Given the description of an element on the screen output the (x, y) to click on. 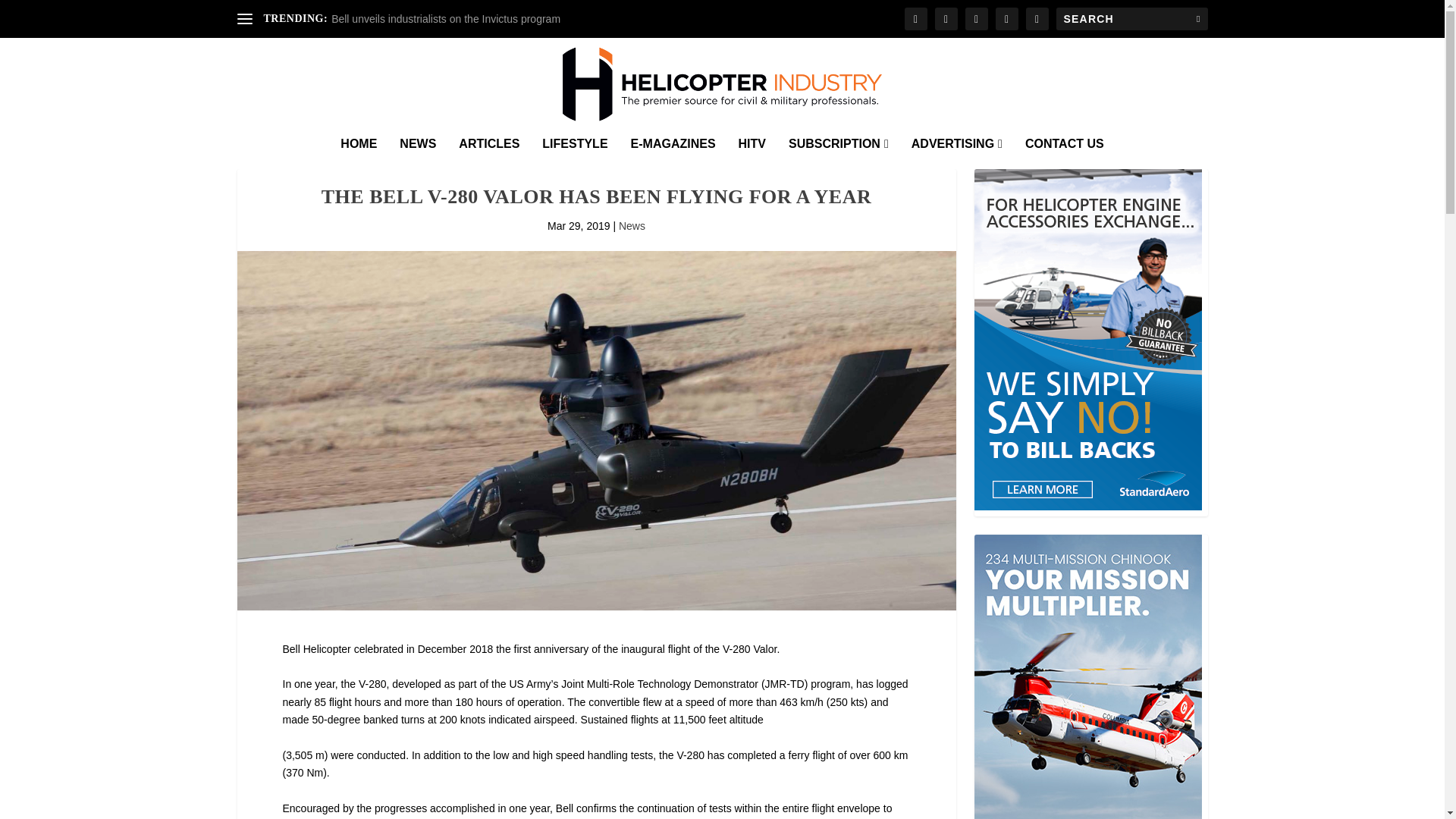
News (631, 225)
LIFESTYLE (574, 153)
Bell unveils industrialists on the Invictus program (445, 19)
CONTACT US (1064, 153)
ADVERTISING (957, 153)
NEWS (416, 153)
Search for: (1131, 18)
SUBSCRIPTION (838, 153)
ARTICLES (488, 153)
E-MAGAZINES (673, 153)
HOME (358, 153)
